Given the description of an element on the screen output the (x, y) to click on. 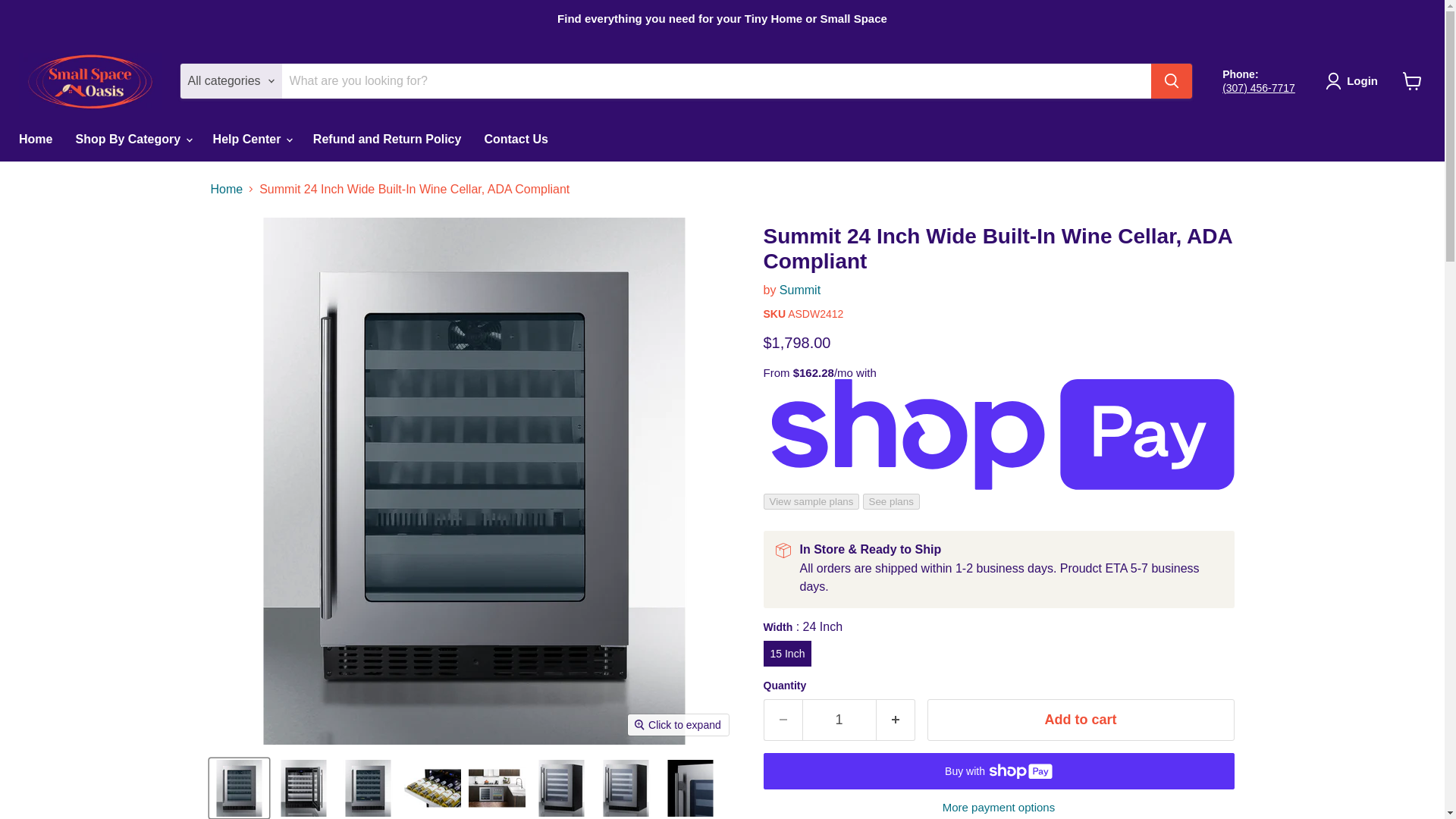
View cart (1411, 80)
Summit (799, 289)
1 (839, 720)
Home (35, 138)
Refund and Return Policy (387, 138)
Login (1354, 81)
